Given the description of an element on the screen output the (x, y) to click on. 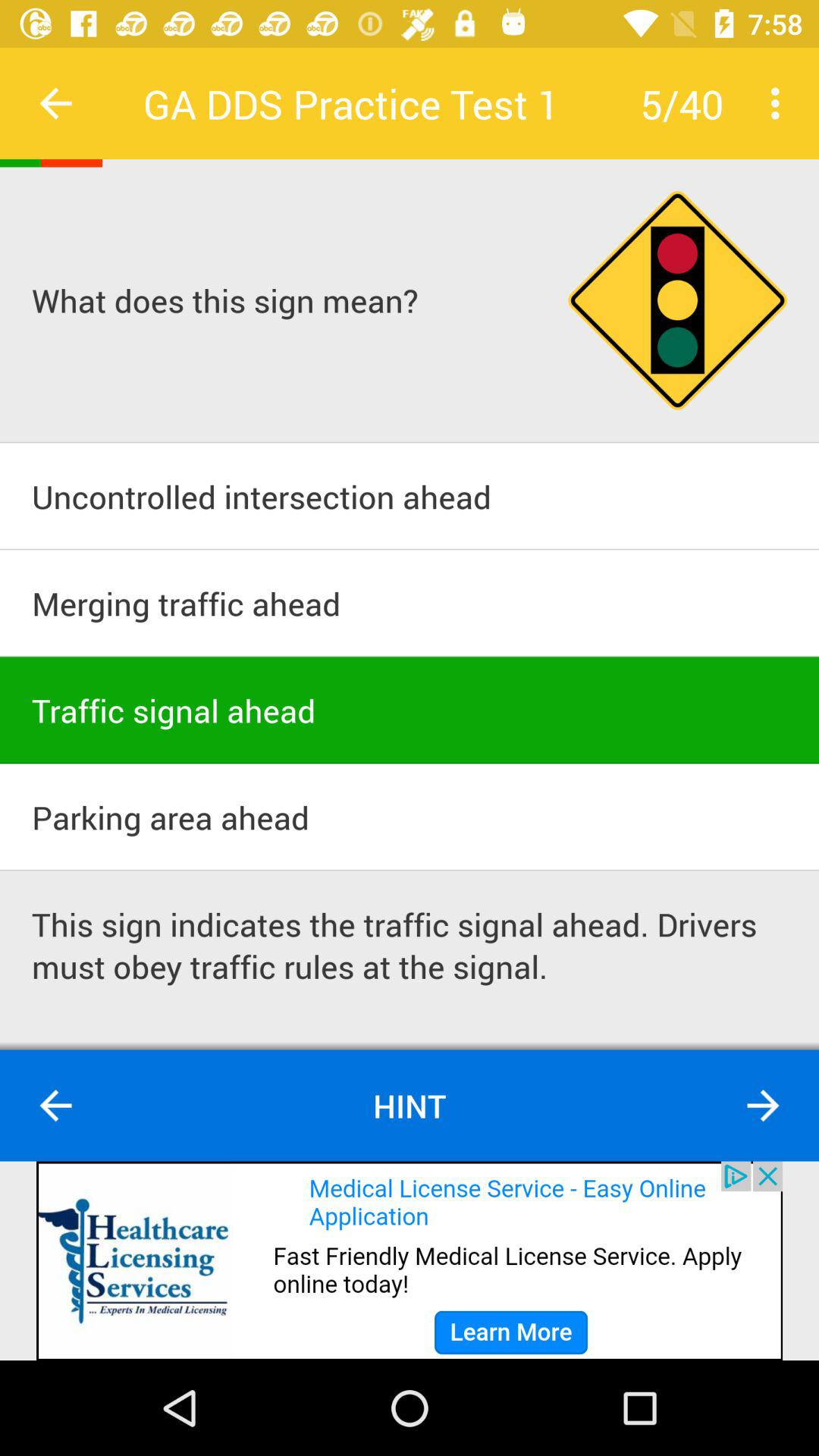
go back (55, 103)
